Given the description of an element on the screen output the (x, y) to click on. 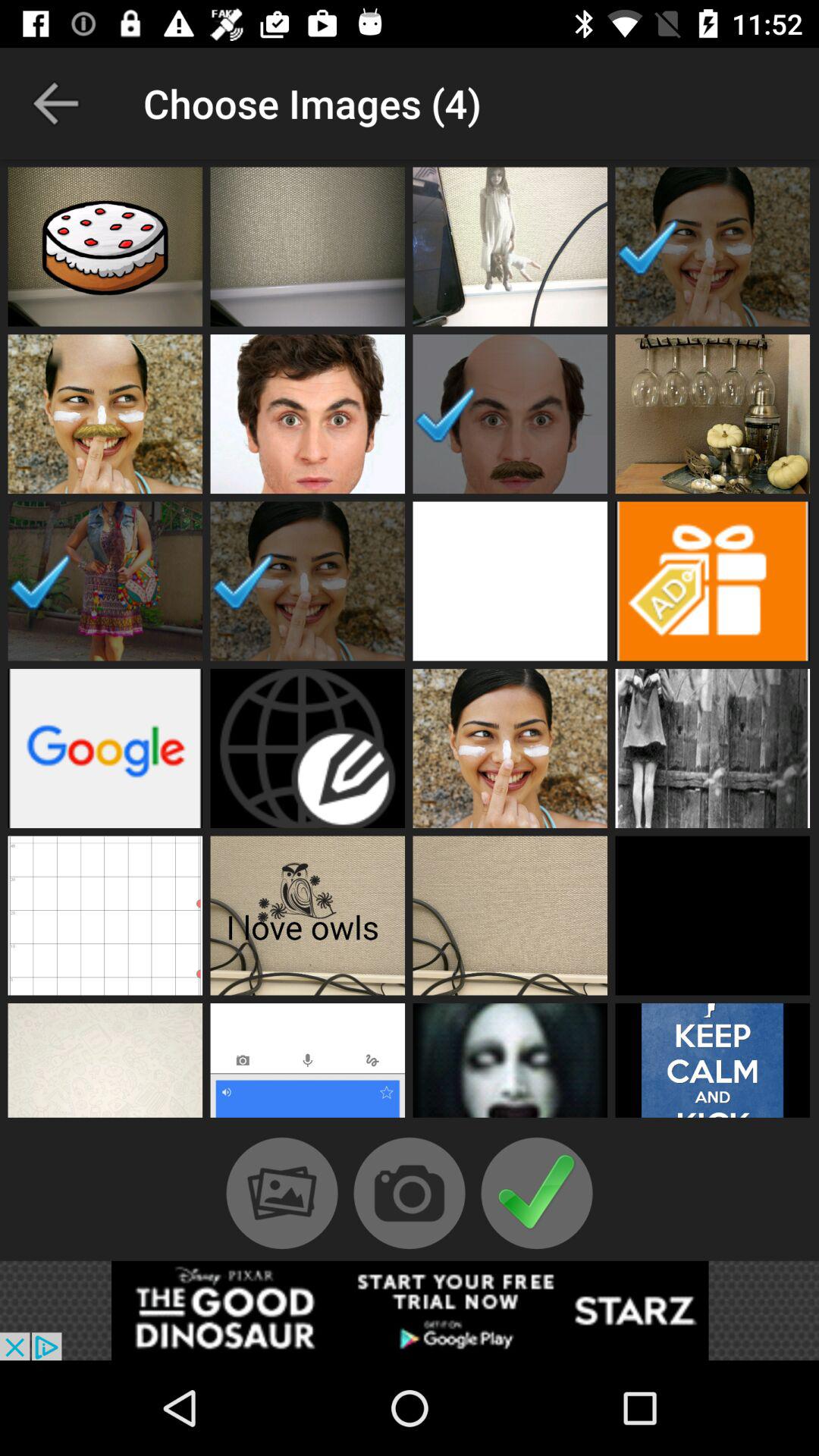
choose the image (509, 915)
